Given the description of an element on the screen output the (x, y) to click on. 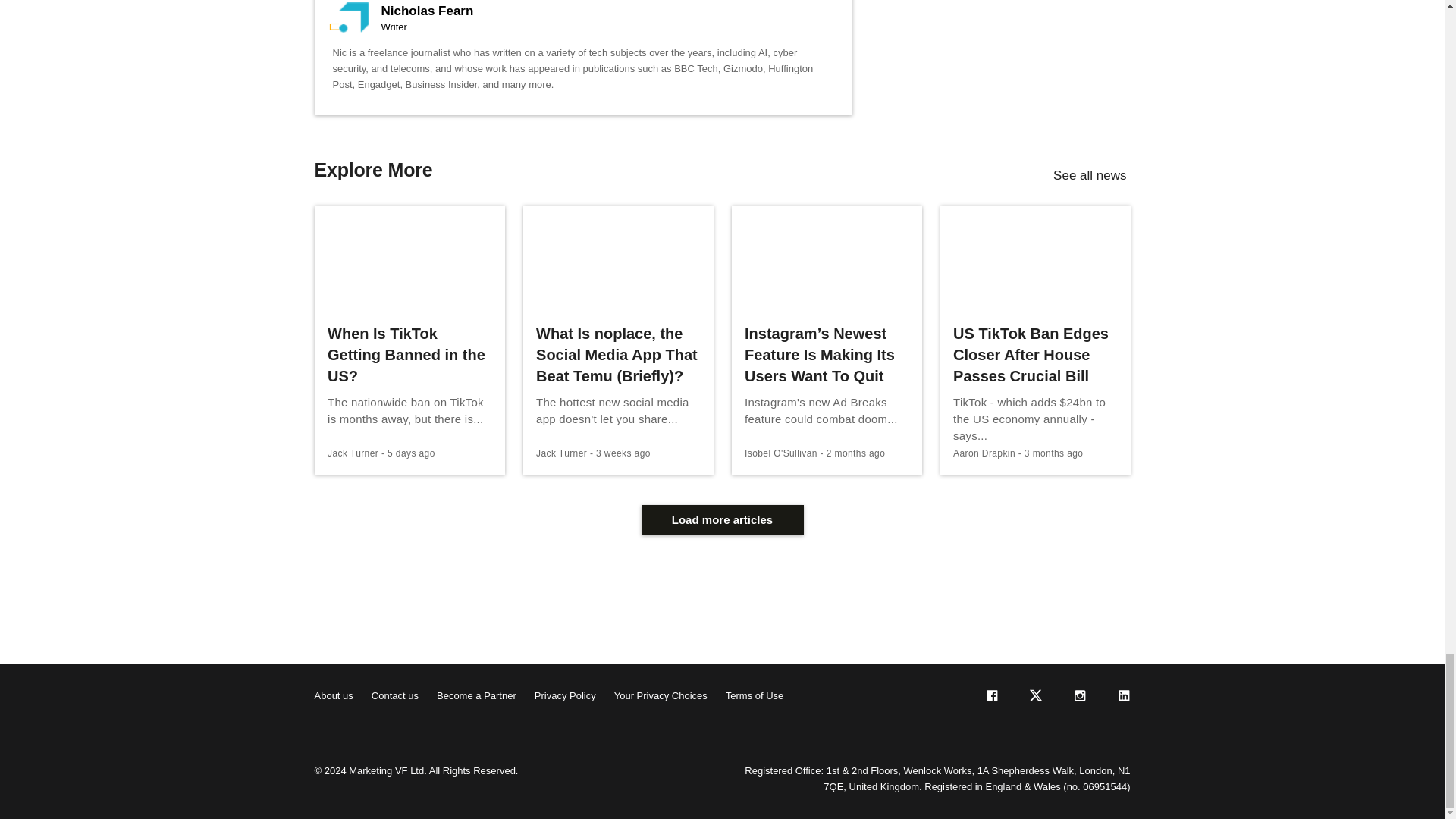
facebook (990, 698)
twitter-x (1034, 698)
instagram (1078, 698)
linkedin (1122, 698)
